Given the description of an element on the screen output the (x, y) to click on. 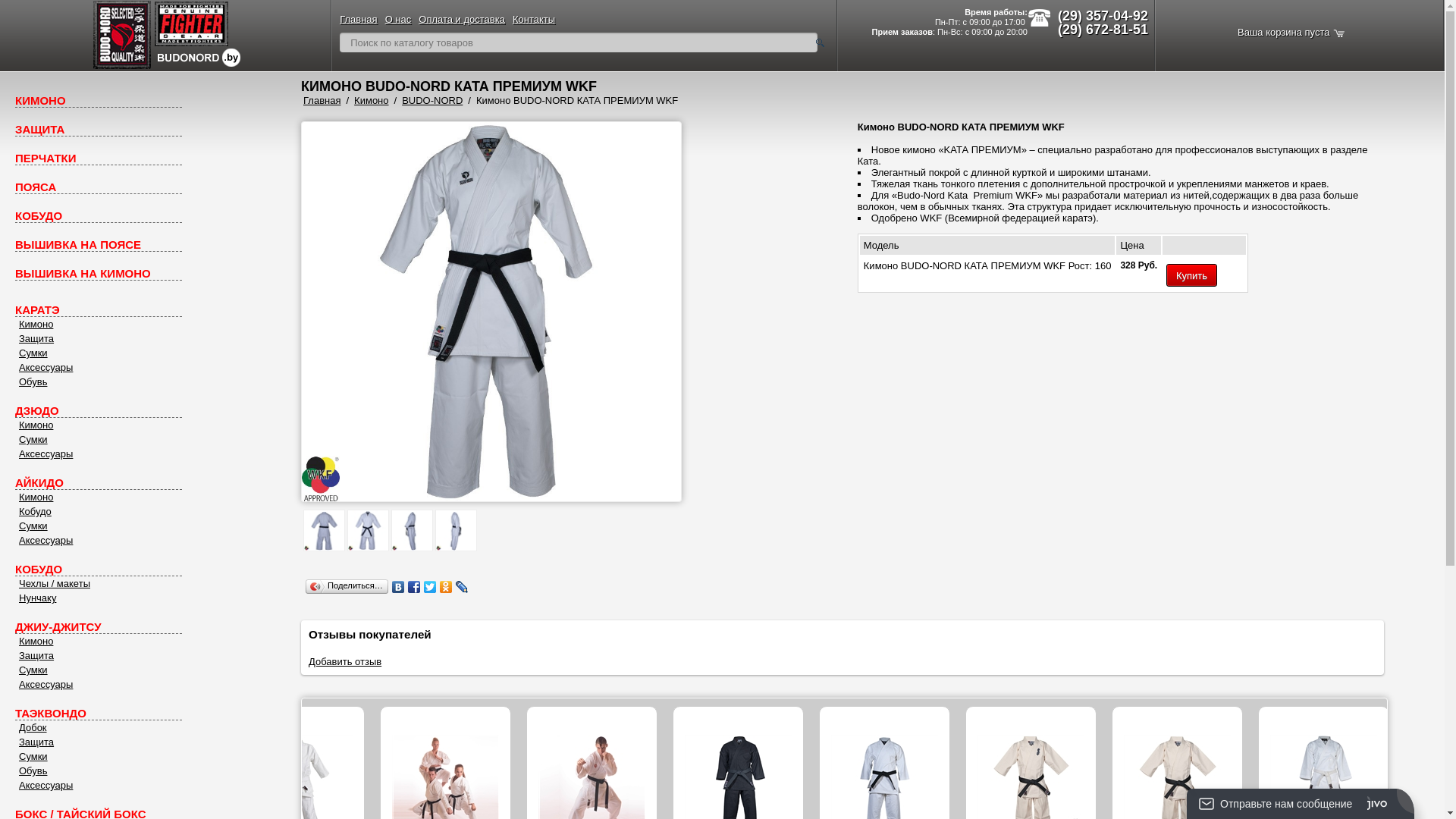
LiveJournal Element type: hover (462, 586)
BUDO-NORD Element type: text (431, 100)
Facebook Element type: hover (414, 586)
Twitter Element type: hover (430, 586)
